Given the description of an element on the screen output the (x, y) to click on. 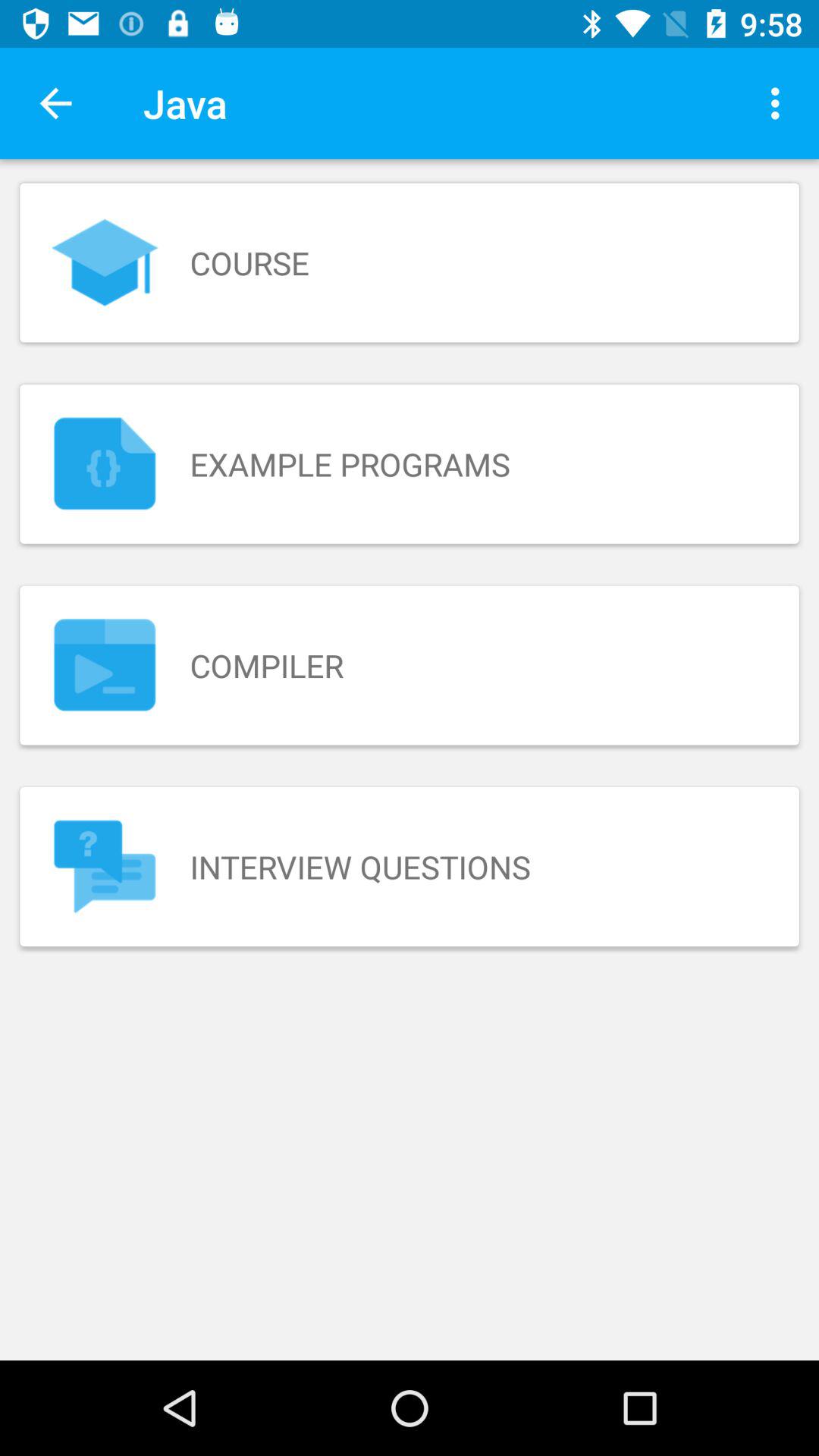
press icon at the top right corner (779, 103)
